Given the description of an element on the screen output the (x, y) to click on. 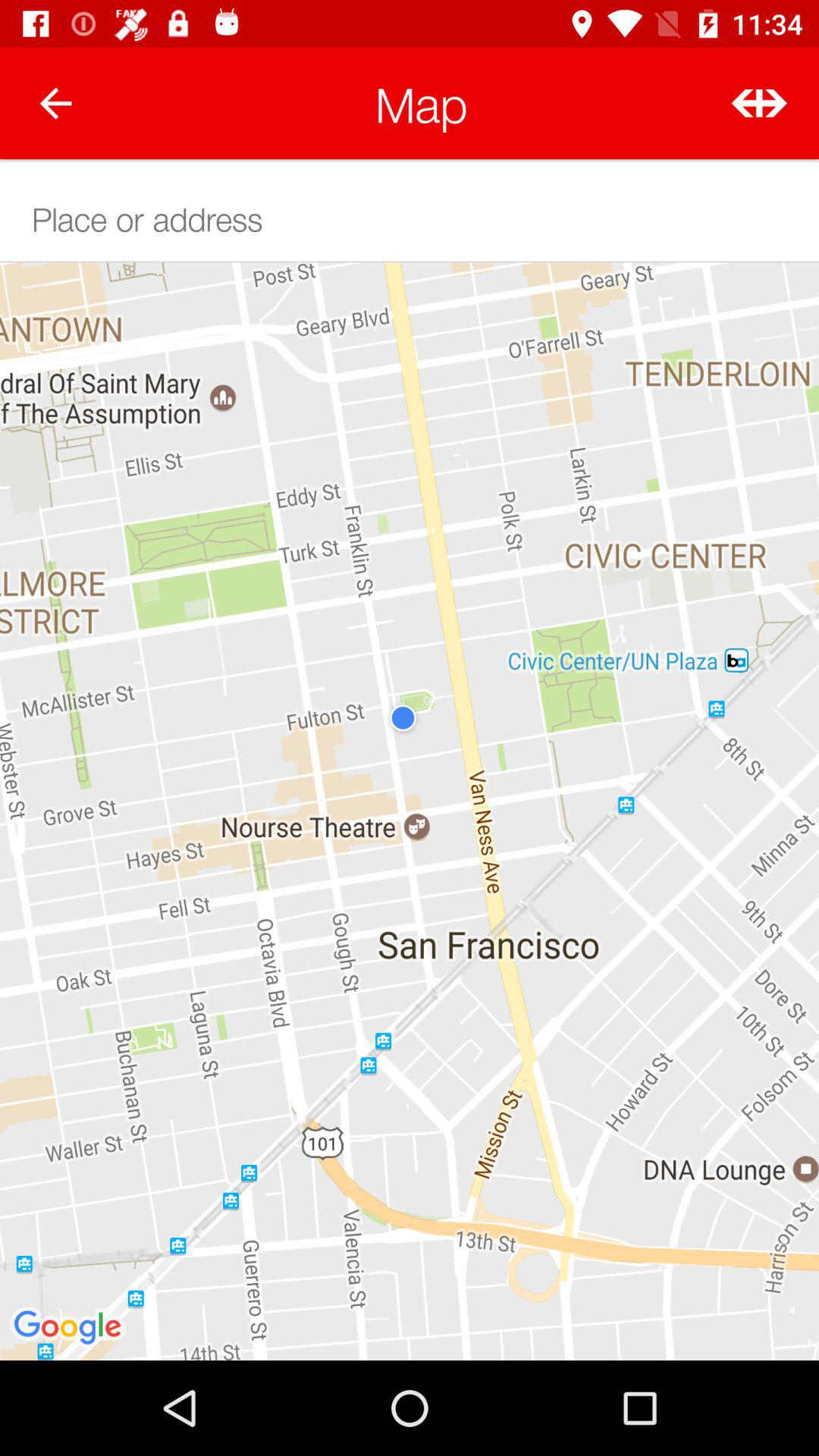
text bar to enter address (409, 216)
